Given the description of an element on the screen output the (x, y) to click on. 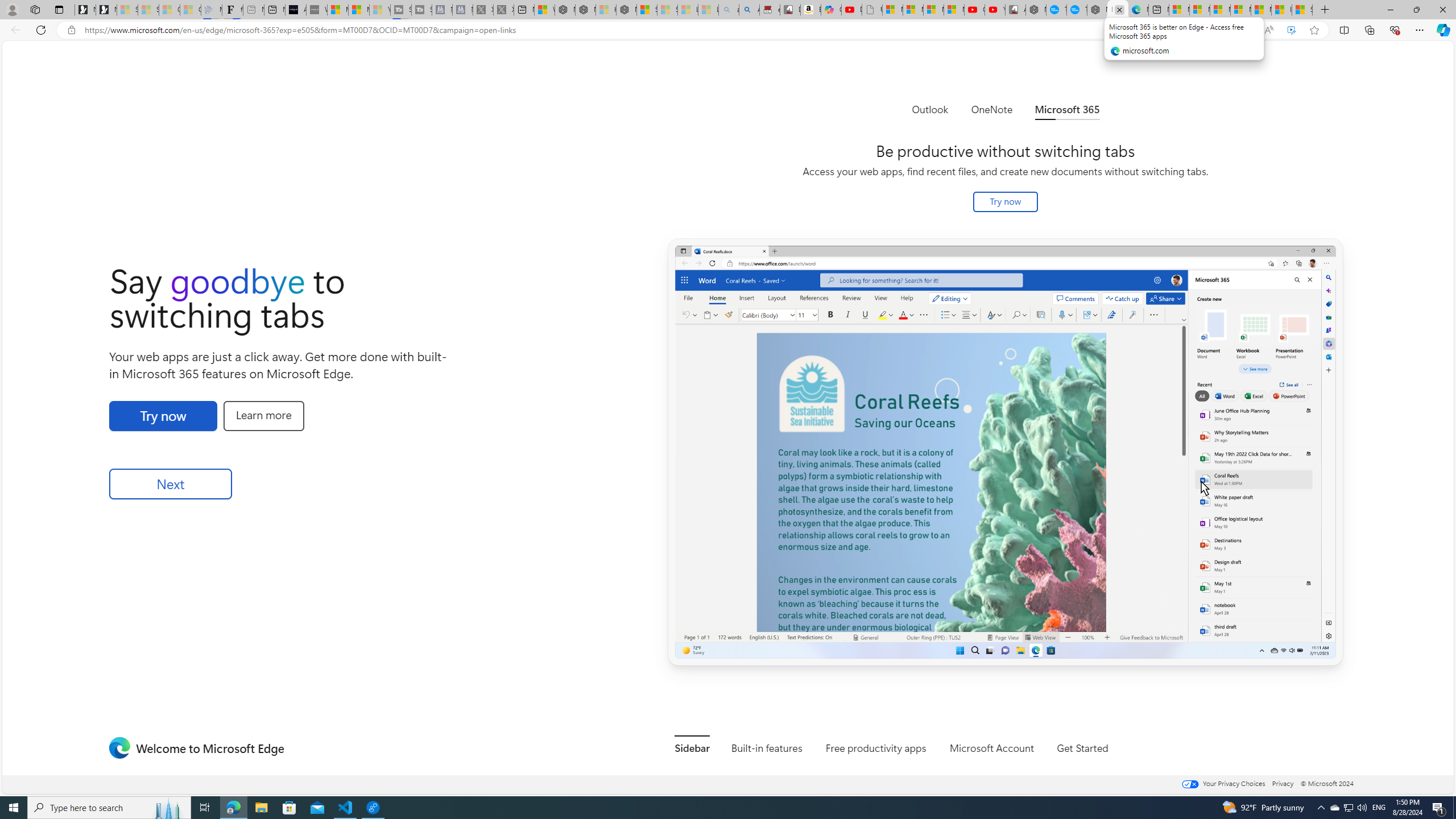
Minimize (1390, 9)
I Gained 20 Pounds of Muscle in 30 Days! | Watch (1281, 9)
Address and search bar (669, 29)
Day 1: Arriving in Yemen (surreal to be here) - YouTube (851, 9)
What's the best AI voice generator? - voice.ai - Sleeping (316, 9)
Back (13, 29)
Untitled (871, 9)
Amazon Echo Dot PNG - Search Images (748, 9)
